Given the description of an element on the screen output the (x, y) to click on. 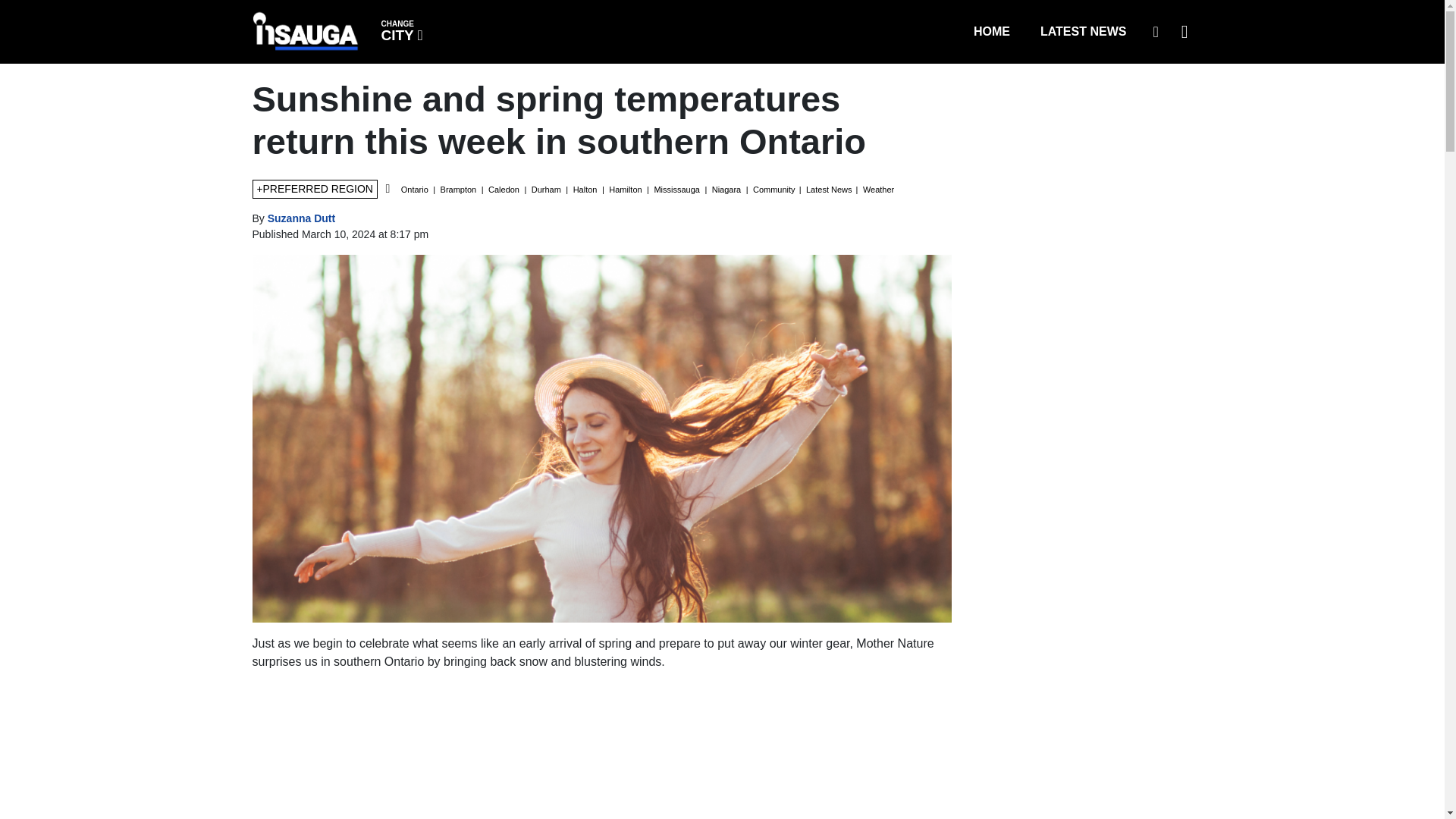
HOME (991, 31)
LATEST NEWS (1083, 31)
SIGN UP FOR OUR NEWSLETTER (400, 30)
Posts by 961 (1155, 31)
